Given the description of an element on the screen output the (x, y) to click on. 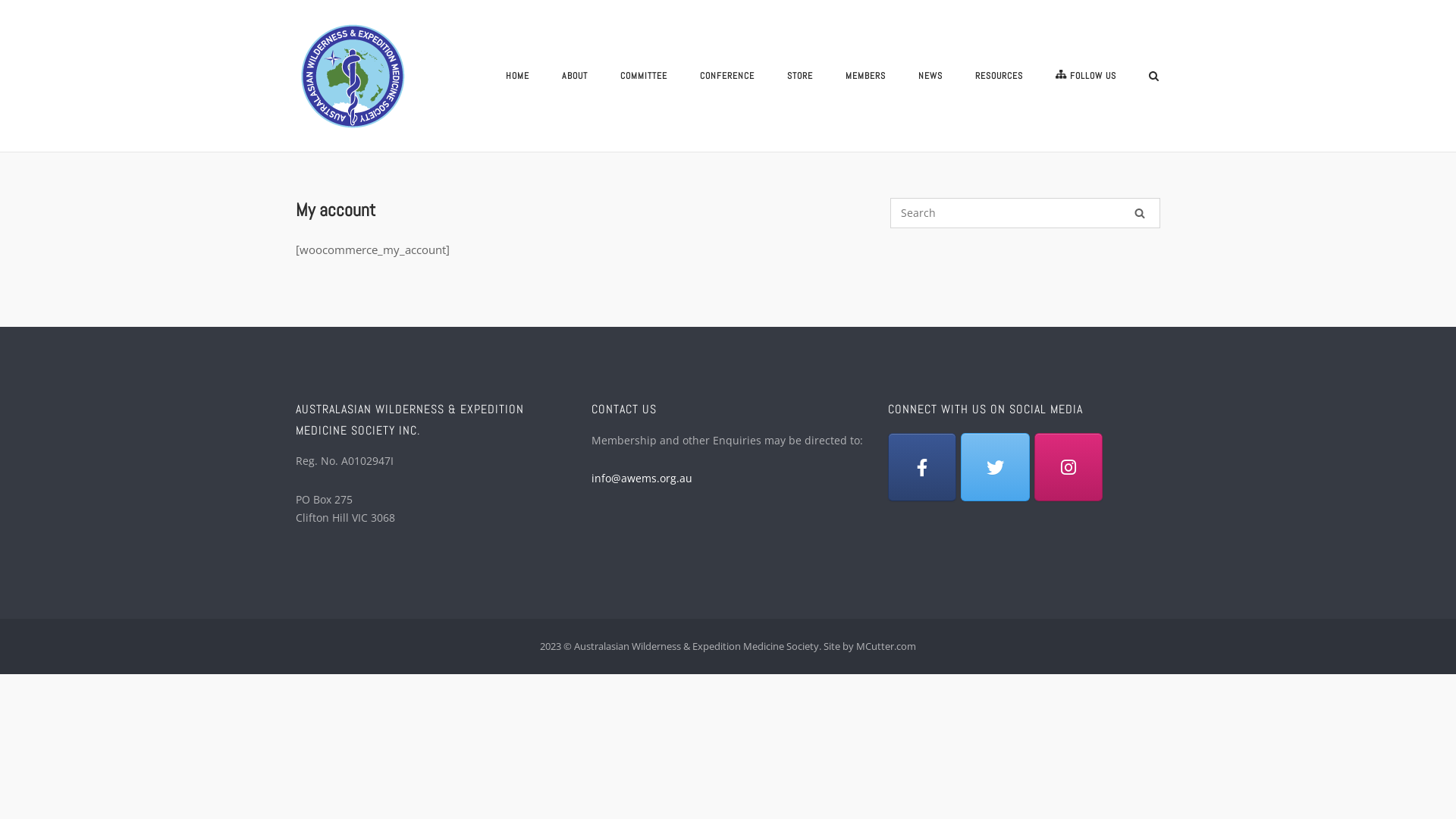
CONFERENCE Element type: text (726, 78)
MEMBERS Element type: text (865, 77)
ABOUT Element type: text (574, 78)
HOME Element type: text (517, 78)
COMMITTEE Element type: text (643, 78)
RESOURCES Element type: text (998, 78)
NEWS Element type: text (930, 78)
Facebook Element type: hover (922, 467)
Instagram Element type: hover (1068, 467)
FOLLOW US Element type: text (1085, 77)
MCutter.com Element type: text (886, 645)
Twitter Element type: hover (994, 467)
info@awems.org.au Element type: text (641, 477)
STORE Element type: text (799, 78)
